Given the description of an element on the screen output the (x, y) to click on. 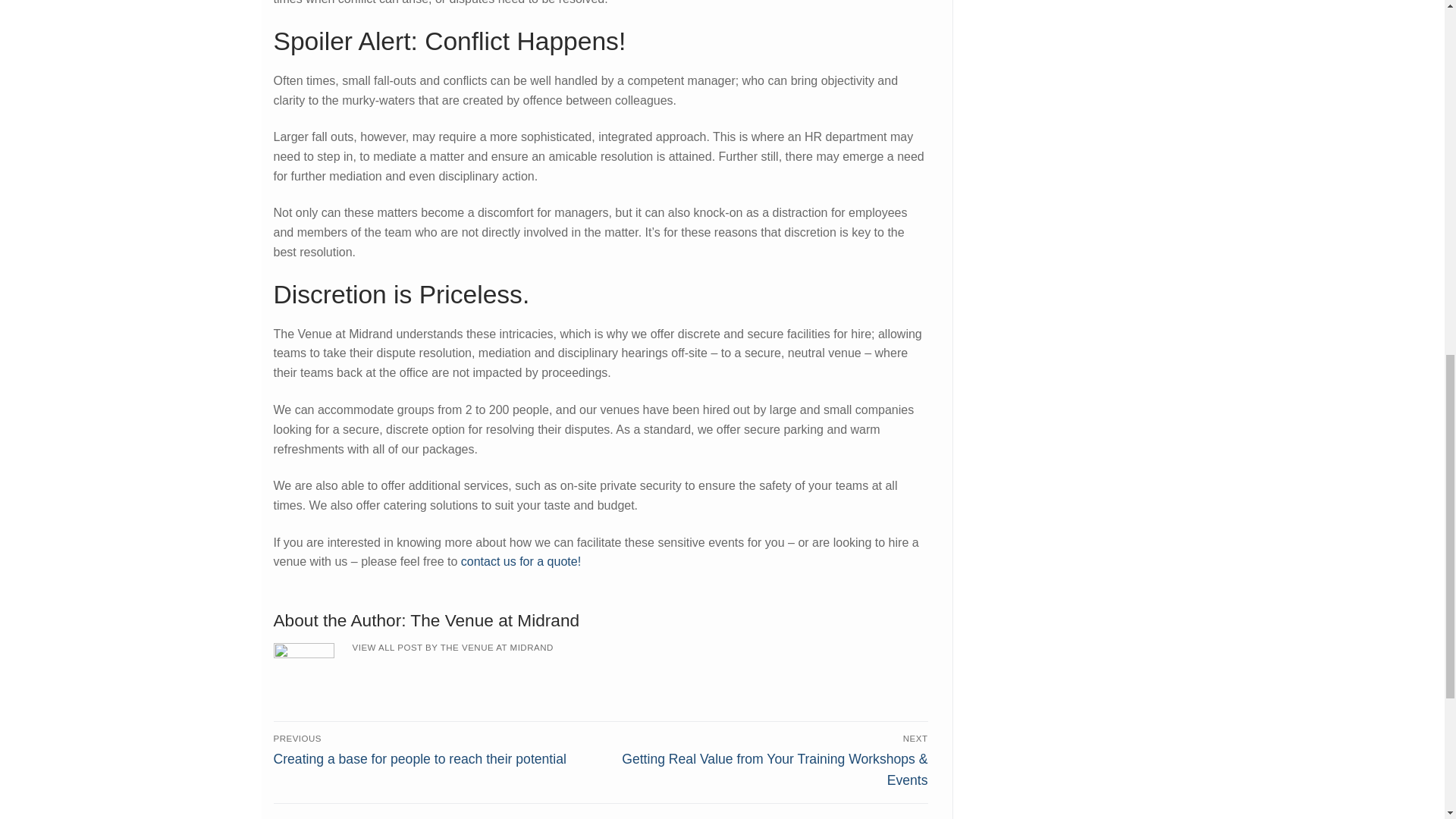
VIEW ALL POST BY THE VENUE AT MIDRAND (452, 646)
contact us for a quote! (520, 561)
